Given the description of an element on the screen output the (x, y) to click on. 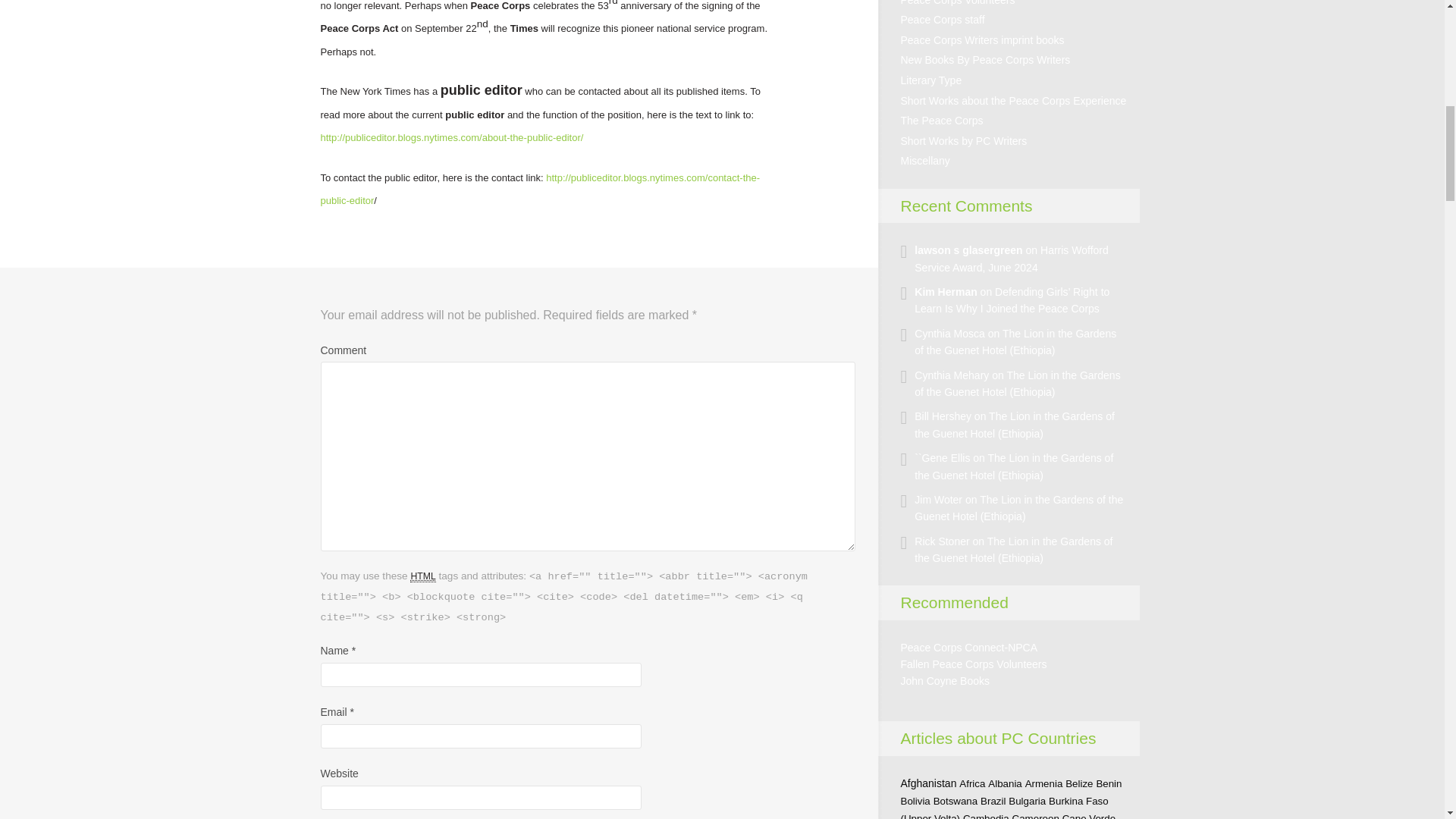
12 topics (955, 800)
21 topics (928, 783)
3 topics (1108, 783)
HyperText Markup Language (422, 576)
7 topics (972, 783)
6 topics (1027, 800)
11 topics (1079, 783)
9 topics (992, 800)
3 topics (1005, 783)
8 topics (1043, 783)
